Given the description of an element on the screen output the (x, y) to click on. 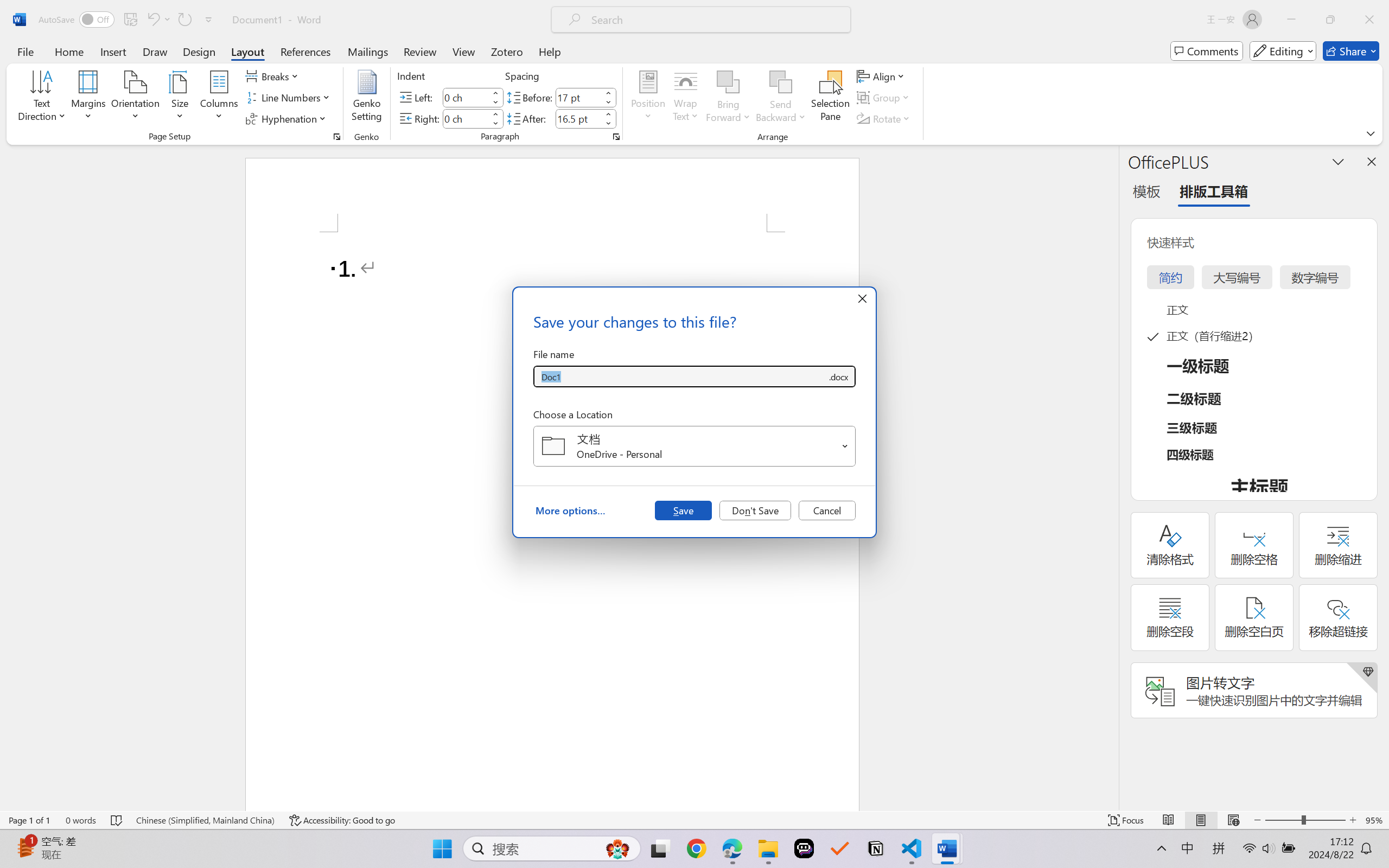
Position (647, 97)
Page Setup... (336, 136)
